Given the description of an element on the screen output the (x, y) to click on. 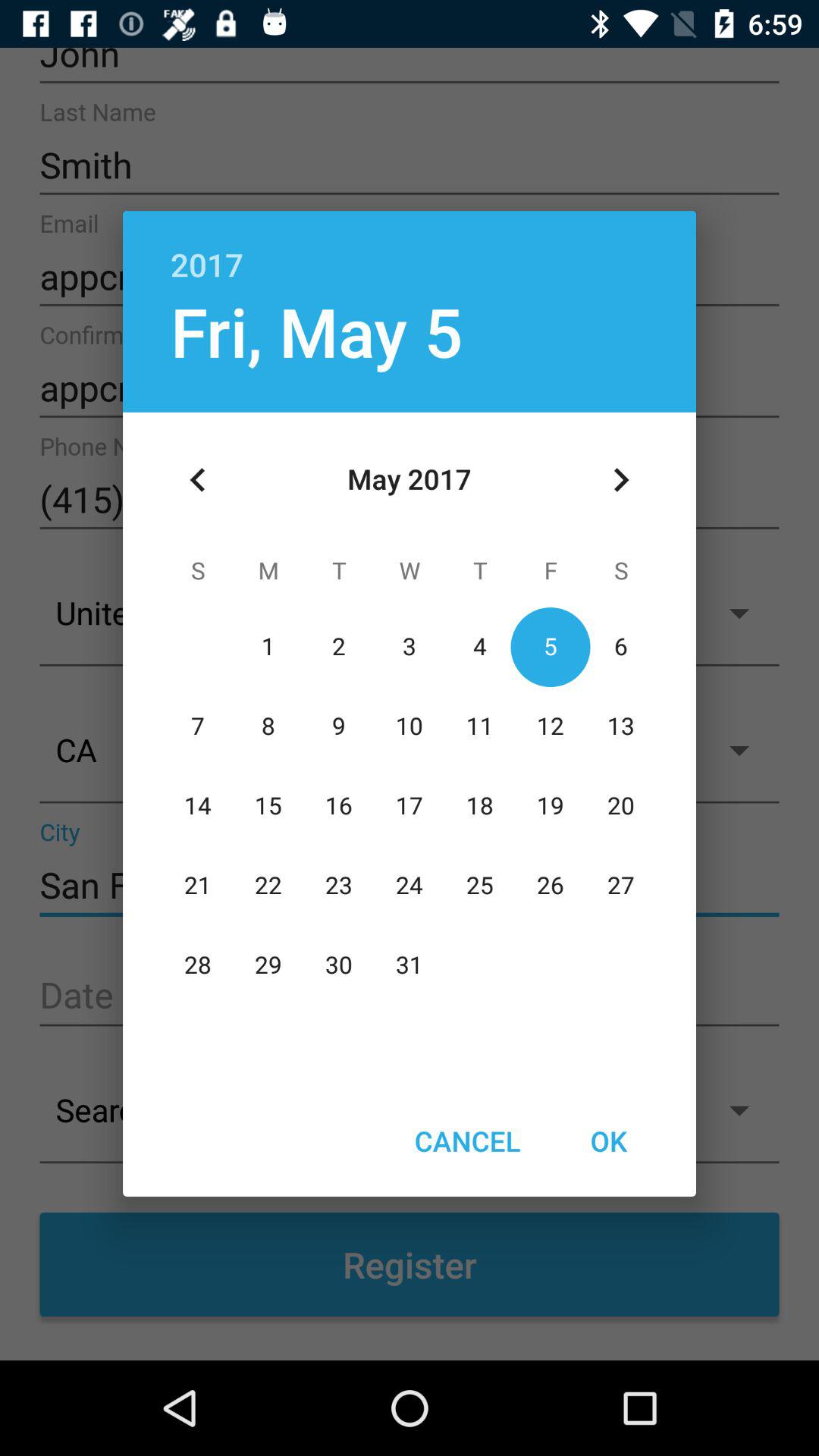
jump to the ok item (608, 1140)
